Given the description of an element on the screen output the (x, y) to click on. 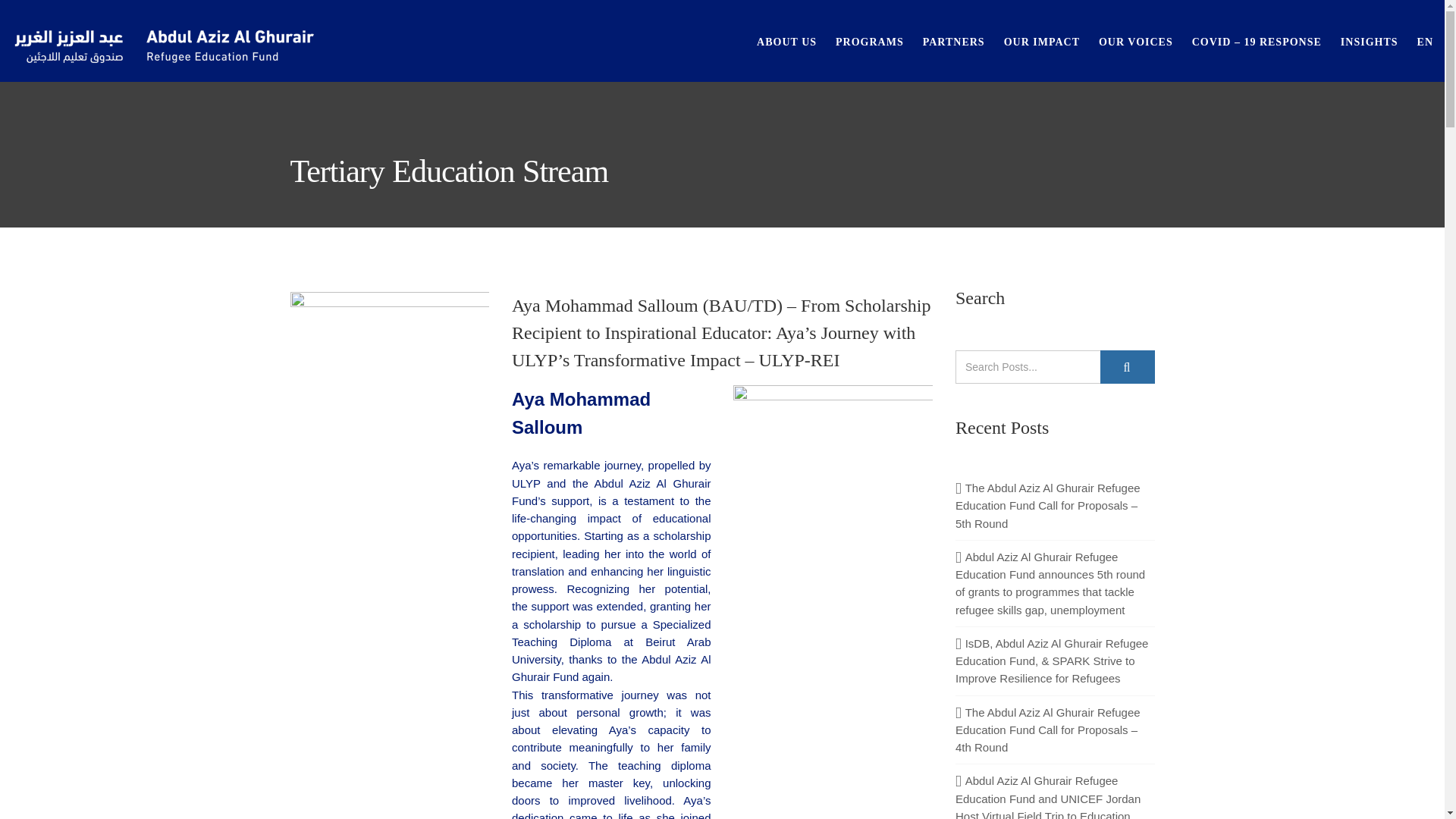
PARTNERS (954, 41)
INSIGHTS (1368, 41)
OUR VOICES (1136, 41)
ABOUT US (786, 41)
OUR IMPACT (1042, 41)
PROGRAMS (869, 41)
